Given the description of an element on the screen output the (x, y) to click on. 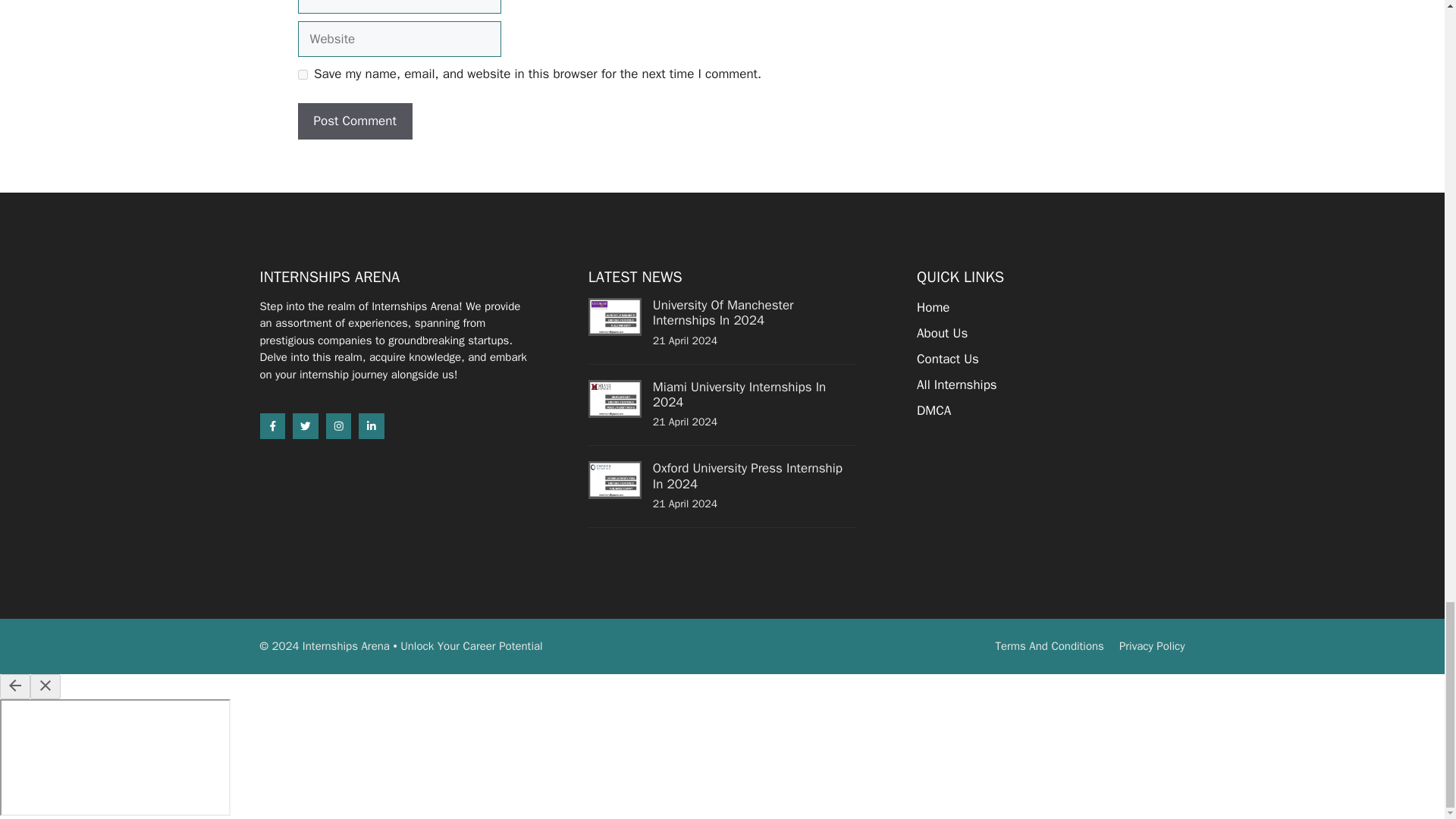
Post Comment (354, 121)
yes (302, 74)
Post Comment (354, 121)
